Given the description of an element on the screen output the (x, y) to click on. 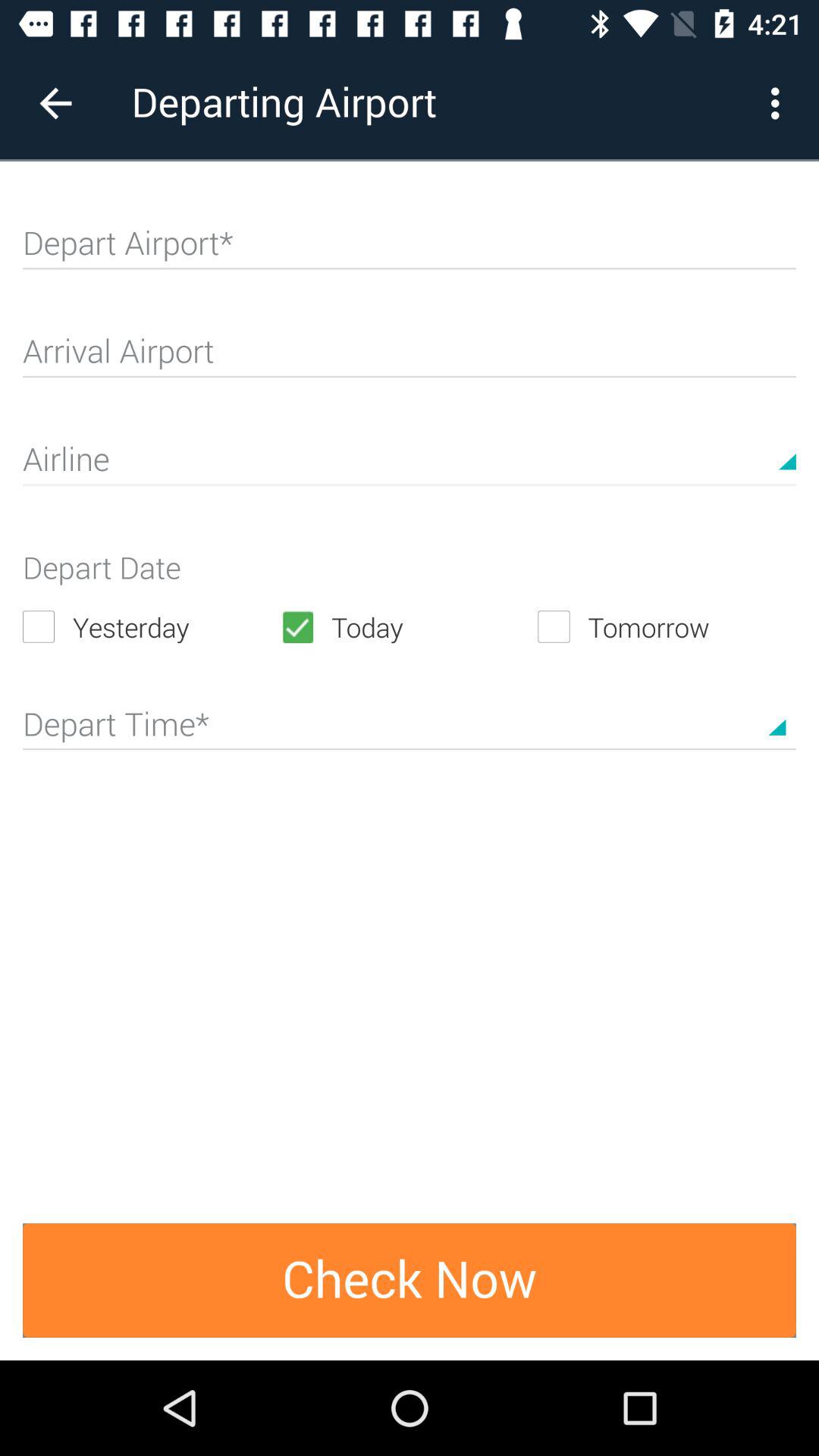
open the today icon (409, 626)
